Given the description of an element on the screen output the (x, y) to click on. 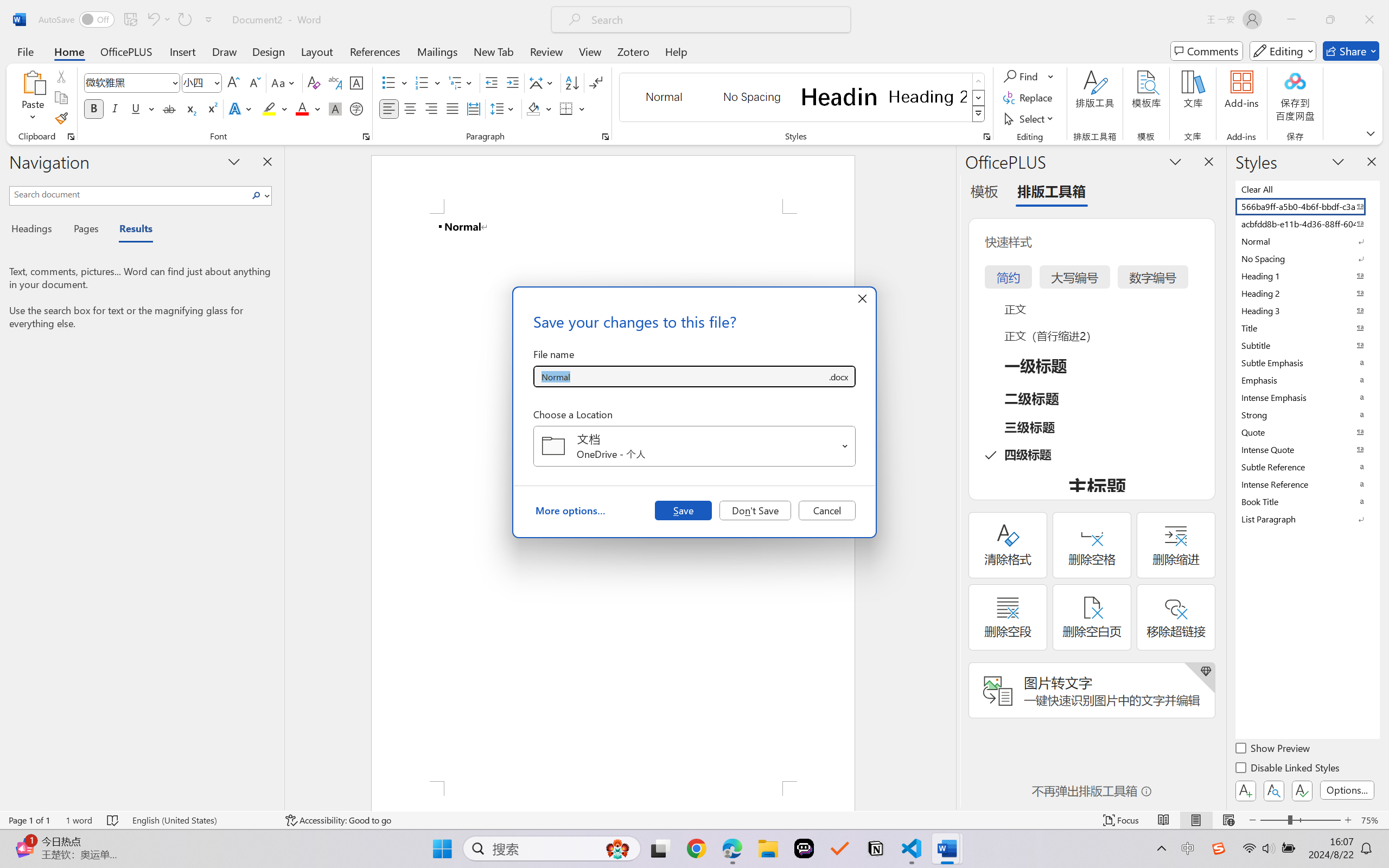
Line and Paragraph Spacing (503, 108)
Copy (60, 97)
Don't Save (755, 509)
Borders (566, 108)
Ribbon Display Options (1370, 132)
Select (1030, 118)
Character Shading (334, 108)
New Tab (493, 51)
Character Border (356, 82)
Search (256, 195)
Styles... (986, 136)
Class: MsoCommandBar (694, 819)
Search (259, 195)
